Given the description of an element on the screen output the (x, y) to click on. 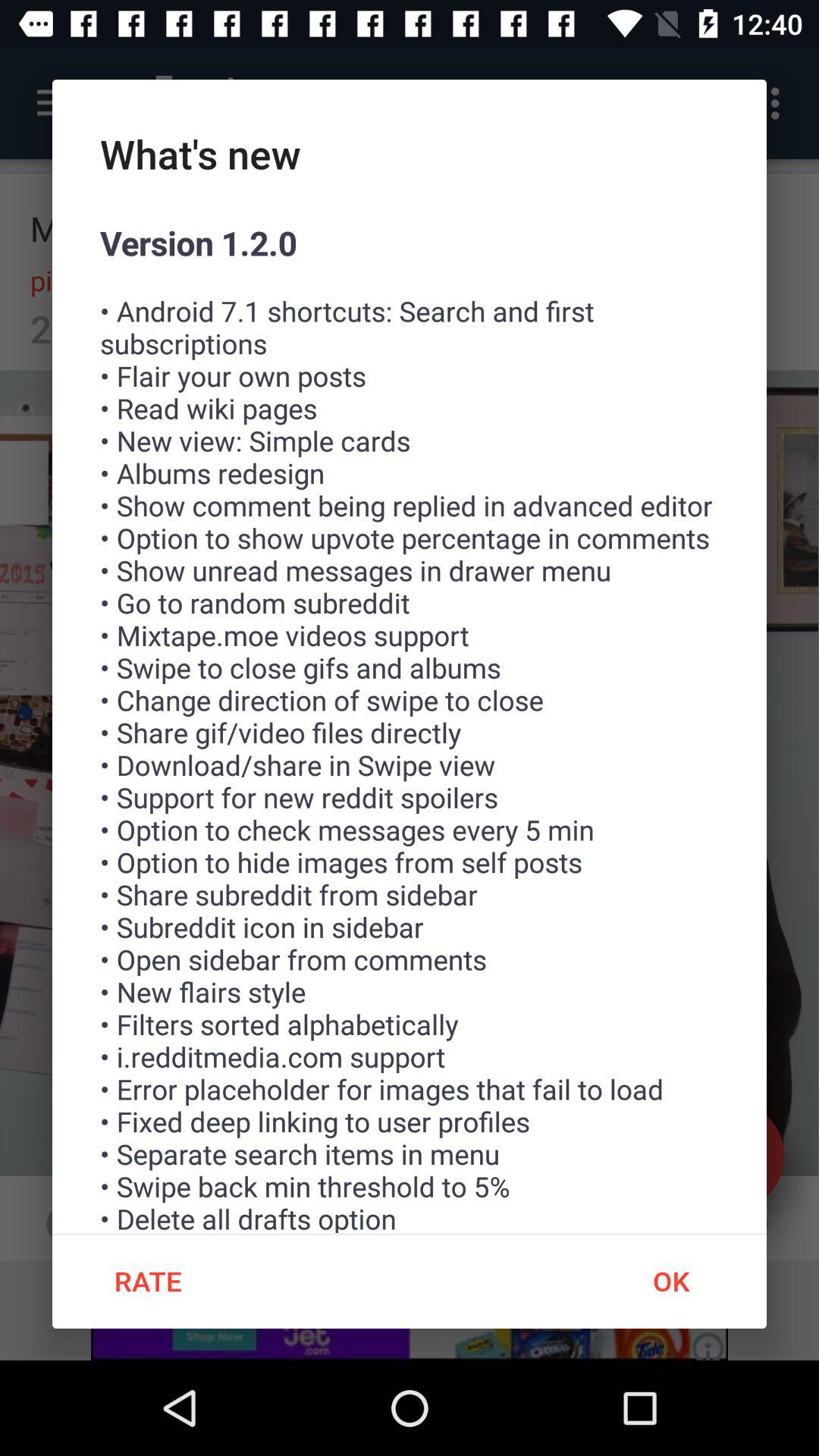
select item below the version 1 2 item (147, 1280)
